Given the description of an element on the screen output the (x, y) to click on. 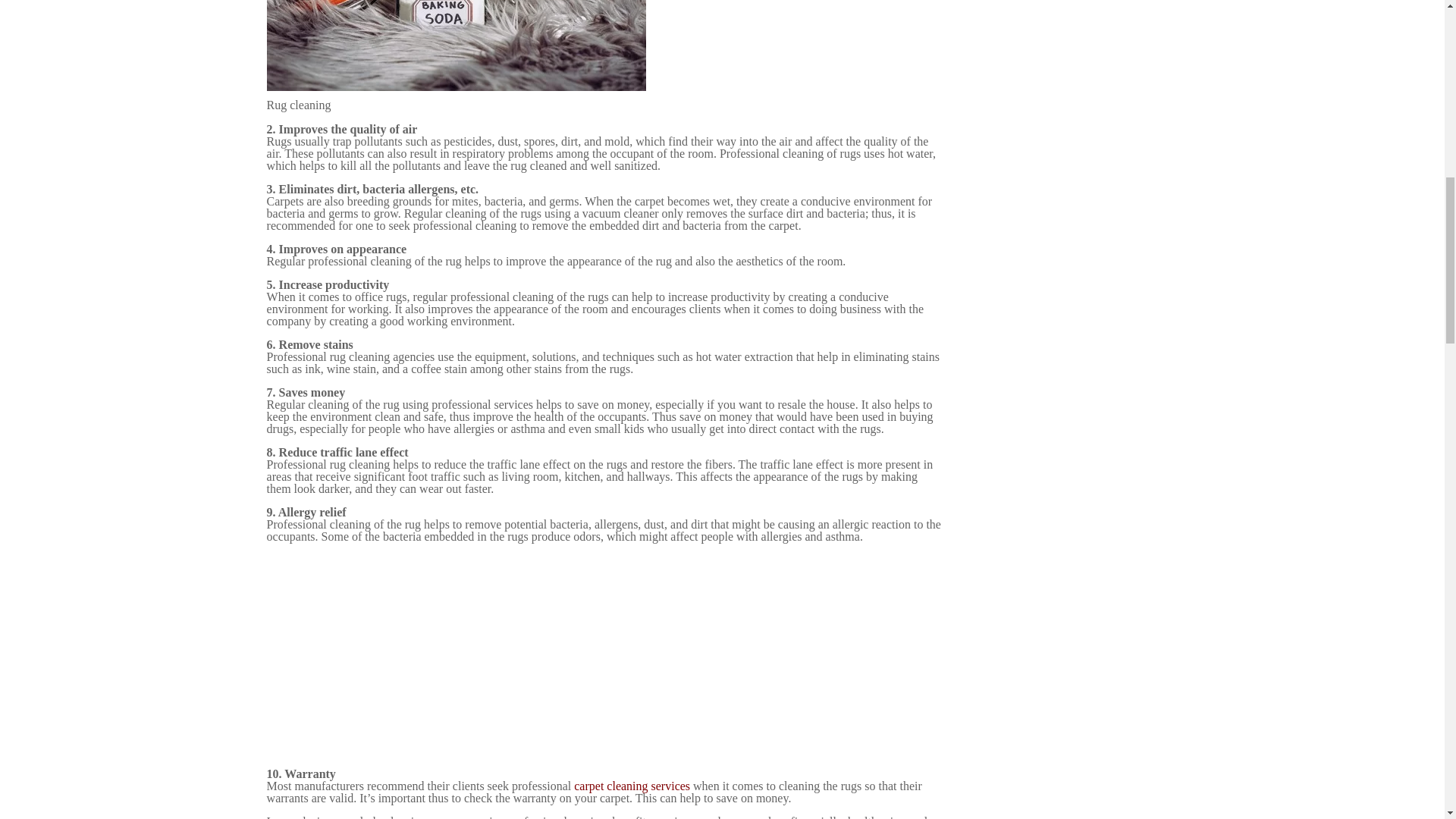
carpet cleaning services (631, 785)
